Given the description of an element on the screen output the (x, y) to click on. 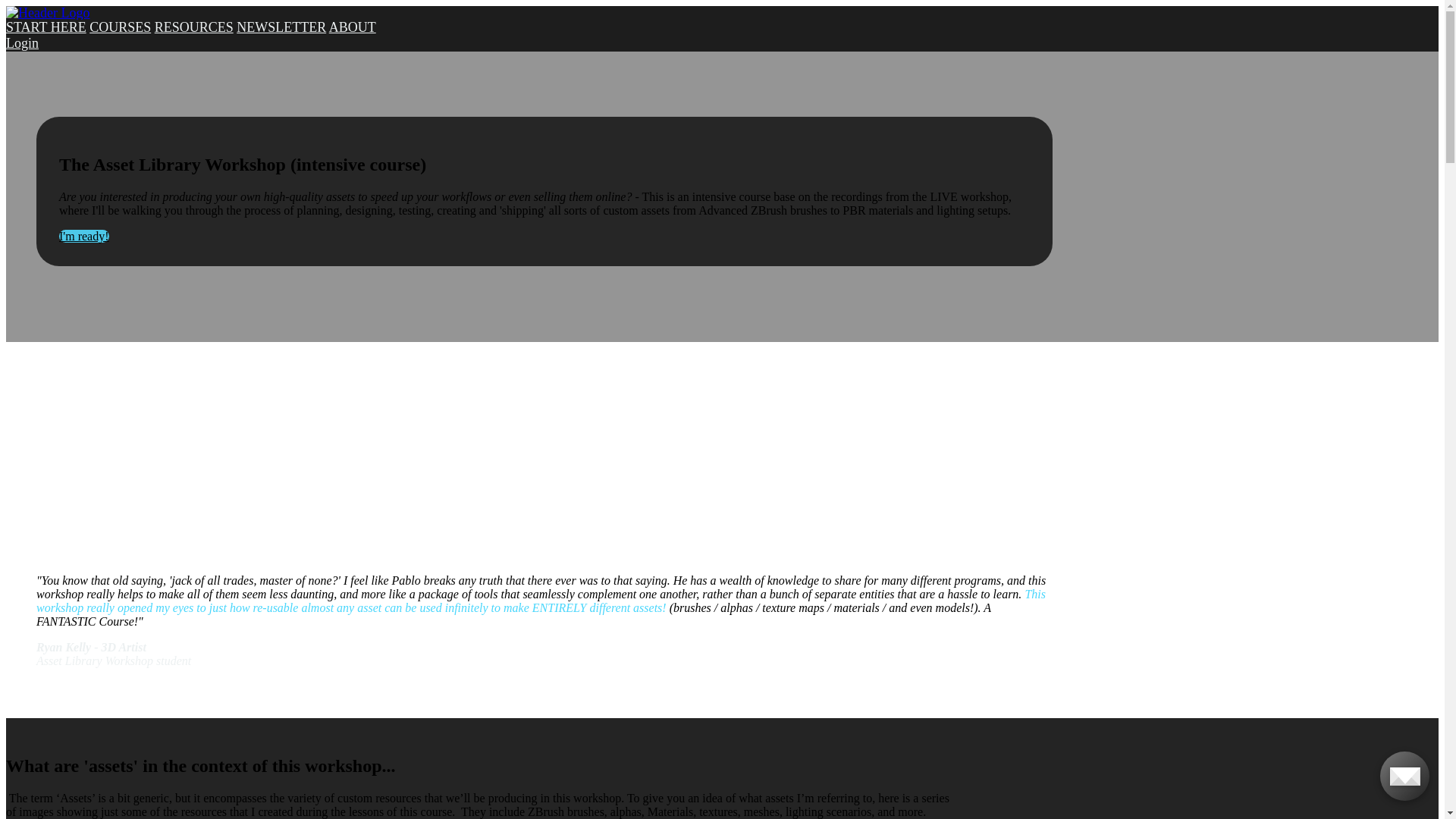
ABOUT Element type: text (352, 26)
NEWSLETTER Element type: text (281, 26)
Login Element type: text (22, 42)
START HERE Element type: text (46, 26)
COURSES Element type: text (119, 26)
RESOURCES Element type: text (193, 26)
I'm ready! Element type: text (84, 235)
